Given the description of an element on the screen output the (x, y) to click on. 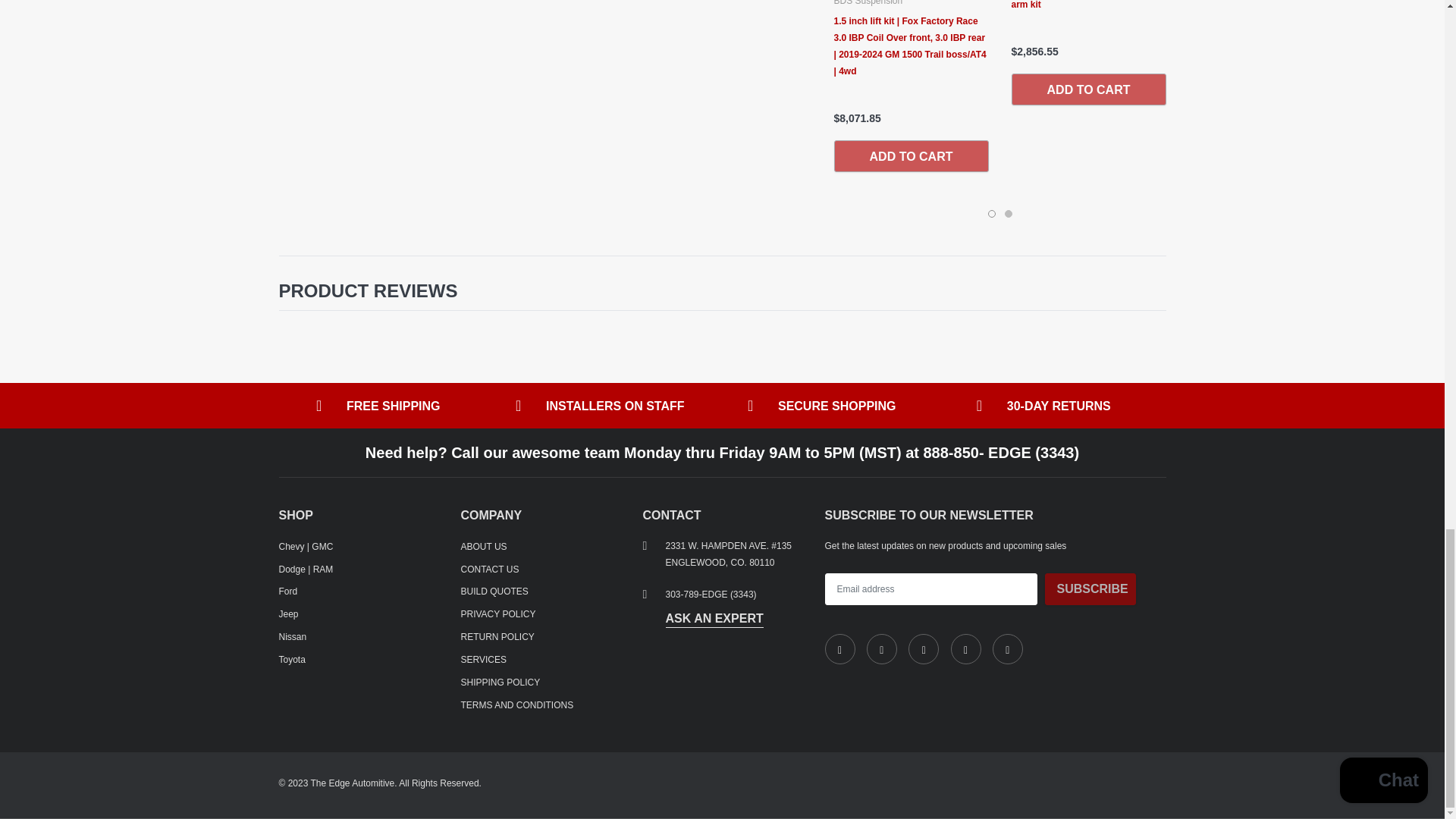
Subscribe (1090, 589)
BDS Suspension (868, 2)
Facebook (840, 648)
Twitter (881, 648)
